Given the description of an element on the screen output the (x, y) to click on. 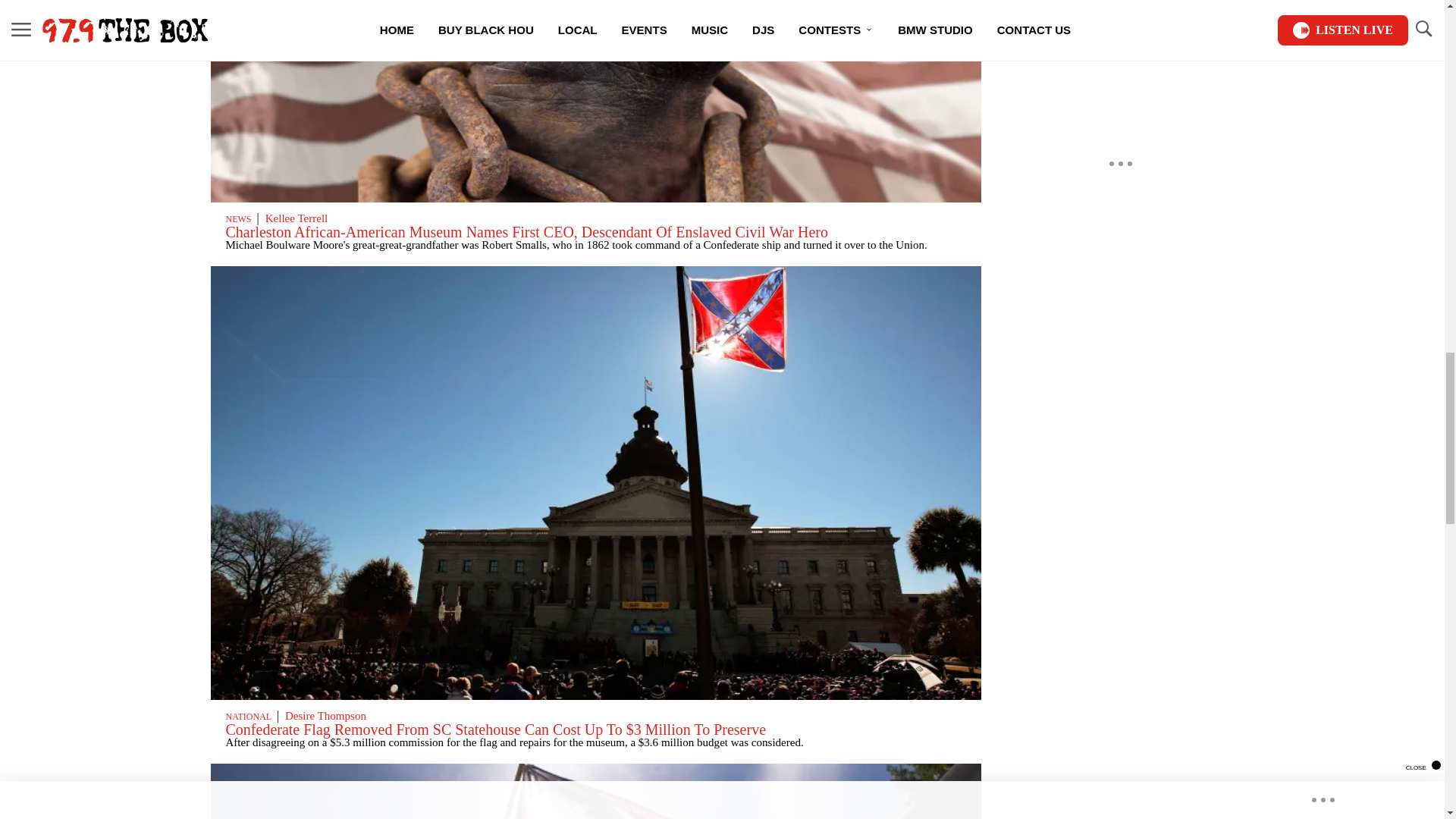
NATIONAL (247, 716)
Kellee Terrell (296, 218)
NEWS (238, 218)
Desire Thompson (325, 715)
